Given the description of an element on the screen output the (x, y) to click on. 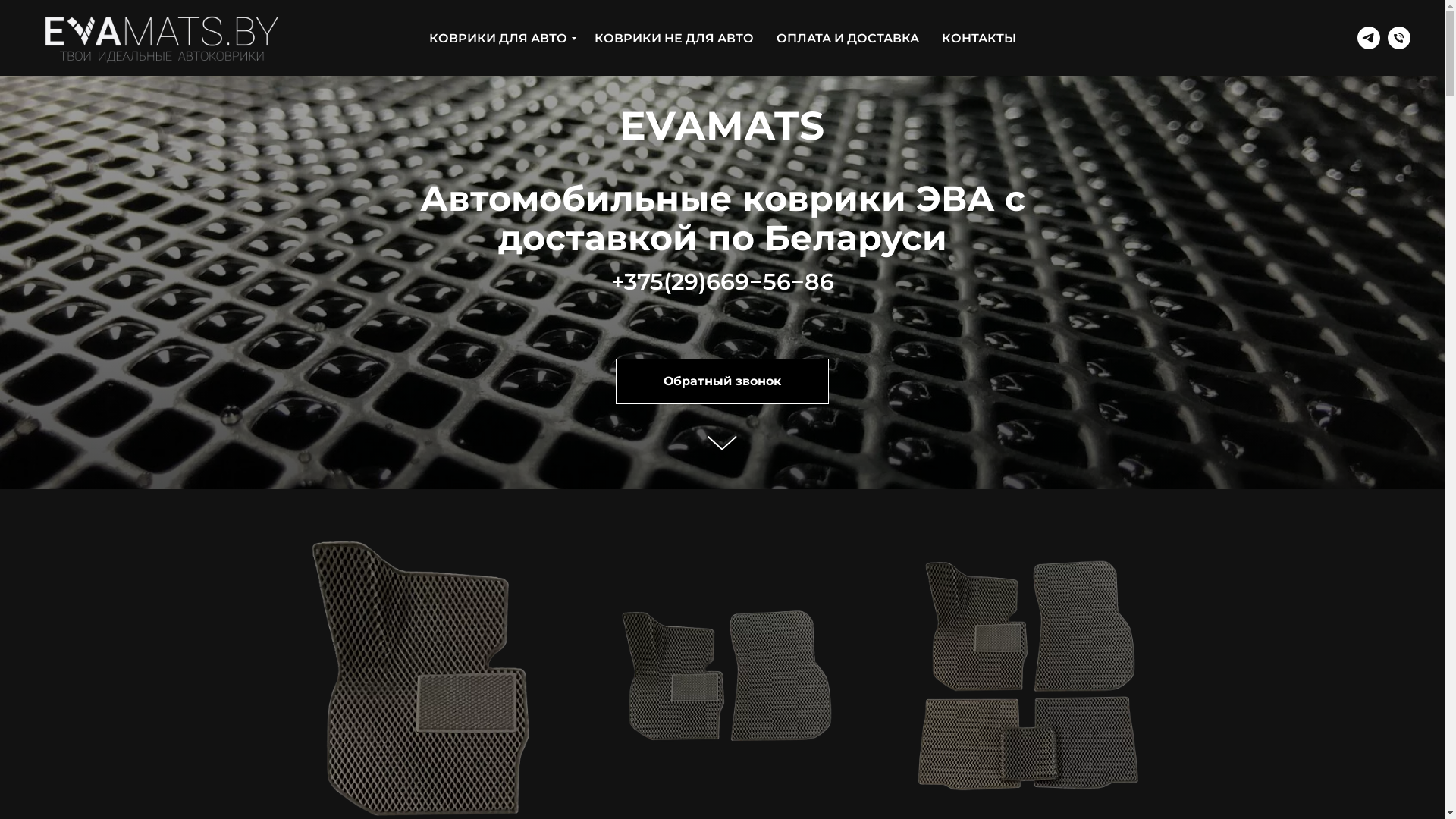
Telegram Element type: hover (1368, 37)
